Given the description of an element on the screen output the (x, y) to click on. 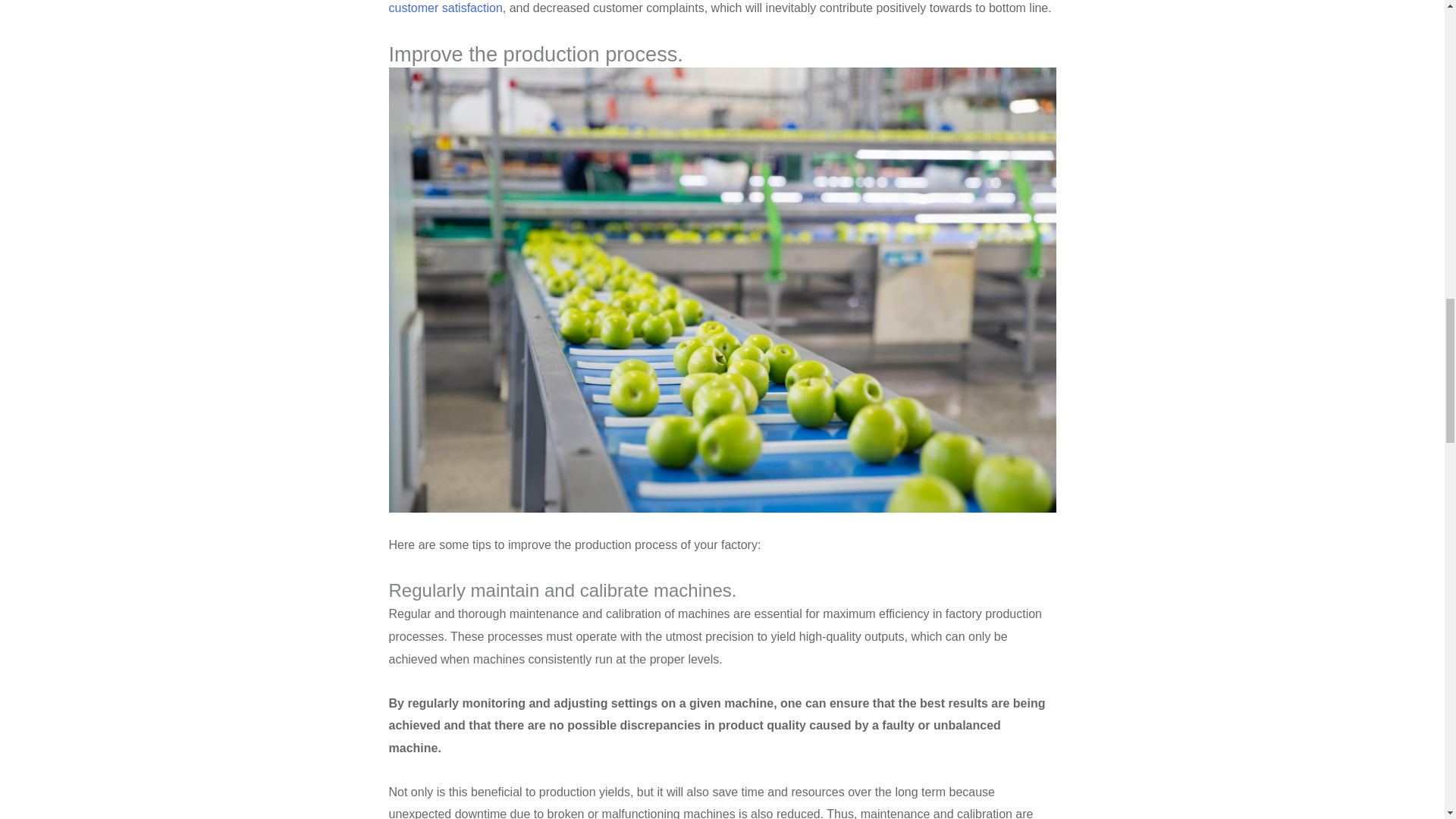
customer satisfaction (445, 7)
